Given the description of an element on the screen output the (x, y) to click on. 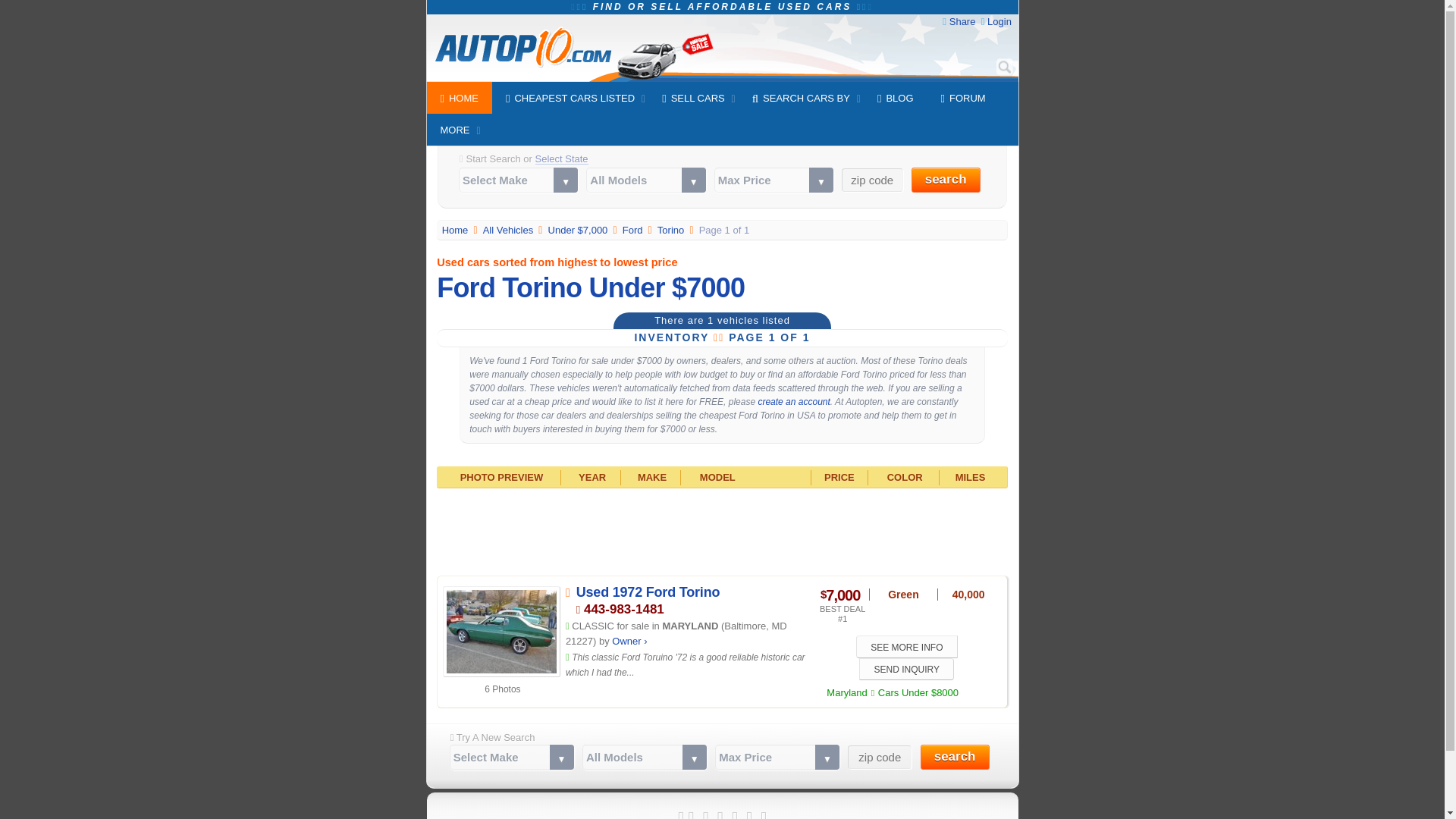
Torino (672, 229)
CHEAPEST CARS LISTED (569, 97)
SEE MORE INFO (907, 646)
search (955, 756)
BLOG (895, 97)
Browse the cheapest cars for sale list (509, 229)
Maryland (840, 692)
FORUM (962, 97)
search (945, 179)
MORE (454, 129)
SELL CARS (692, 97)
View all Ford vehicles listed (634, 229)
Autopten.com RSS Feed (763, 813)
Autopten.com Home (456, 229)
Search (1004, 66)
